Given the description of an element on the screen output the (x, y) to click on. 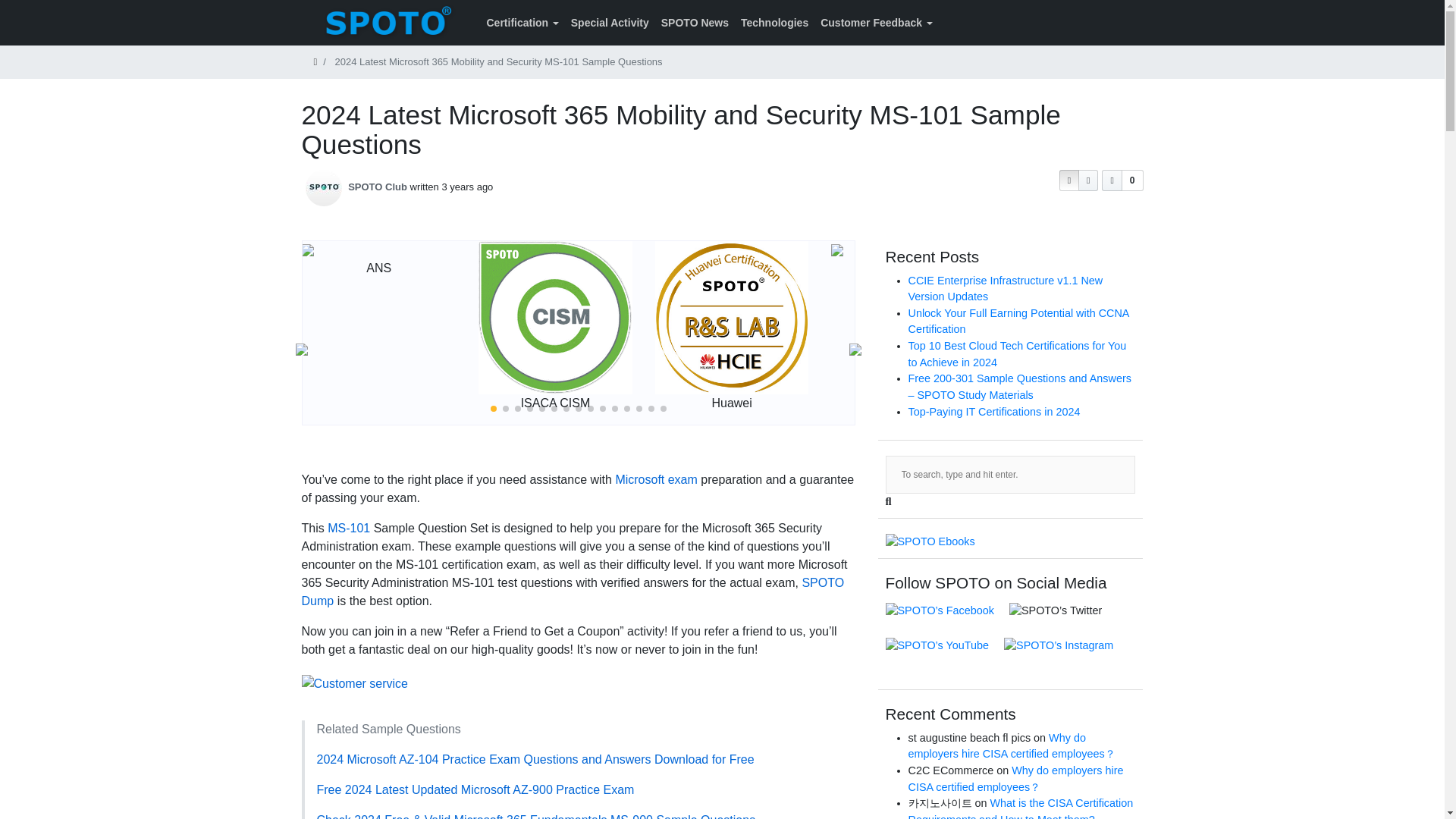
Technologies (774, 22)
0 (1122, 179)
SPOTO News (695, 22)
SPOTO Club (377, 186)
Special Activity (609, 22)
Certification (522, 22)
Customer Feedback (875, 22)
